Given the description of an element on the screen output the (x, y) to click on. 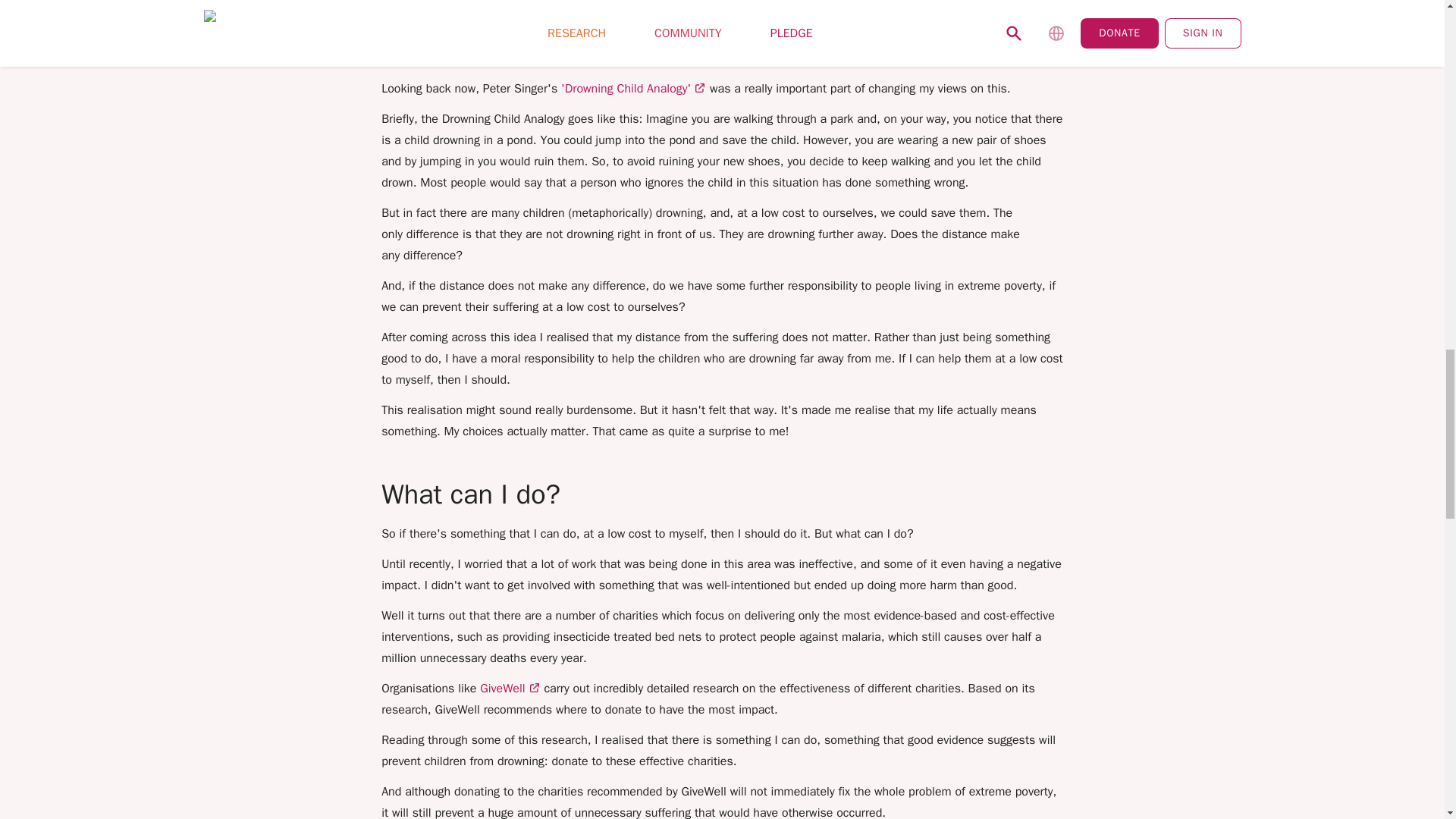
GiveWell (510, 688)
'Drowning Child Analogy' (633, 88)
